Given the description of an element on the screen output the (x, y) to click on. 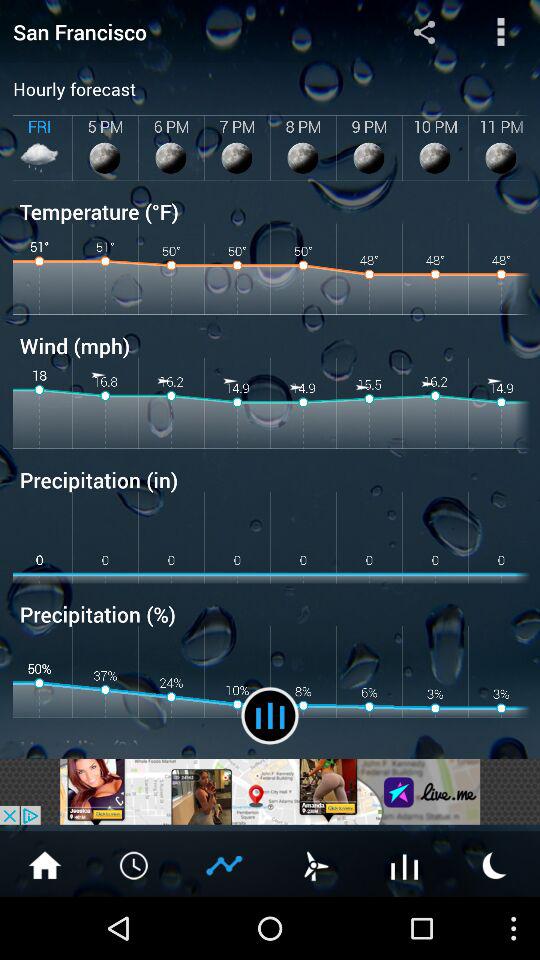
advertisement (270, 791)
